Given the description of an element on the screen output the (x, y) to click on. 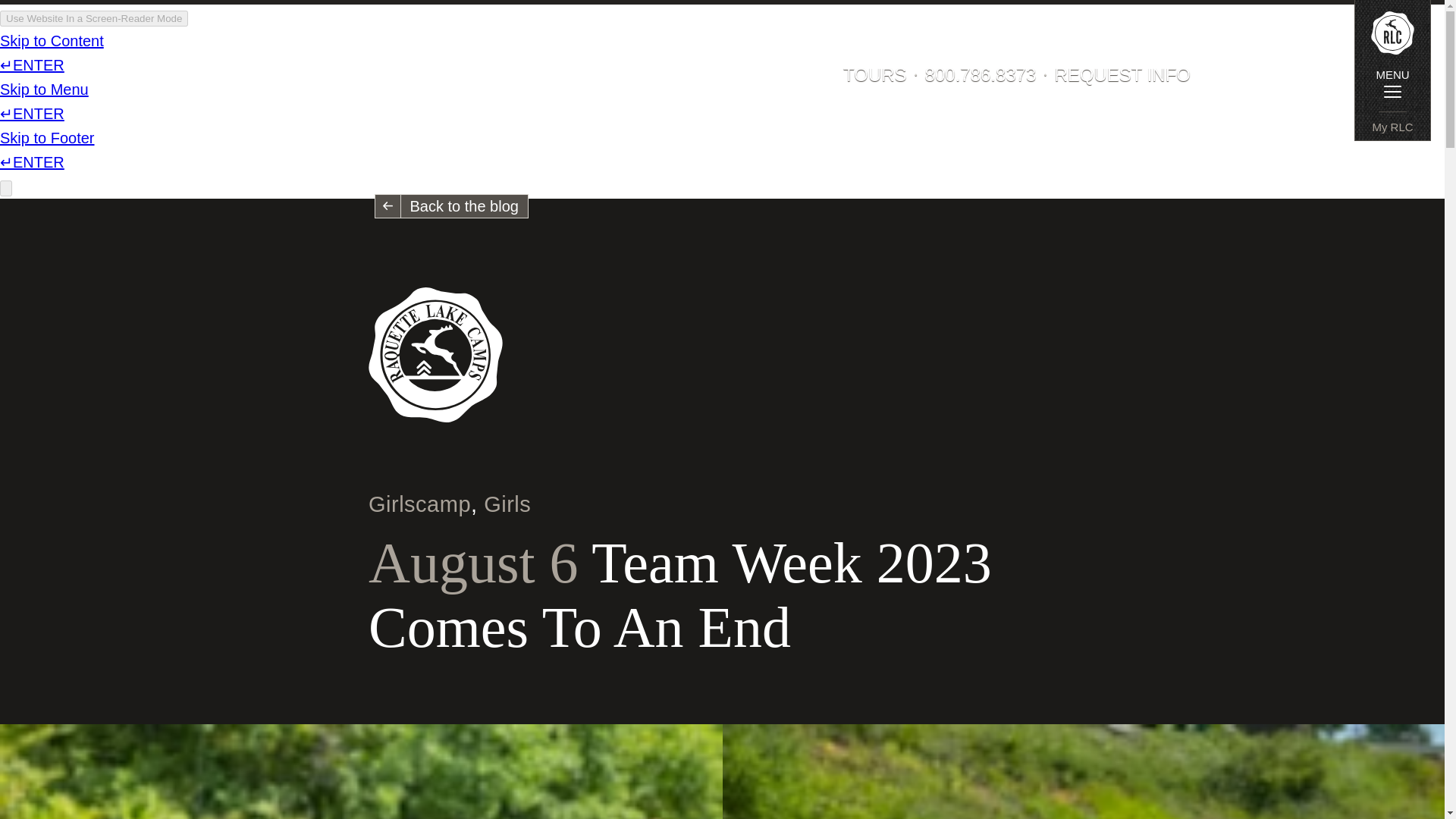
REQUEST INFO (1122, 74)
800.786.8373 (980, 74)
Back to the blog (451, 206)
Girlscamp (419, 504)
TOURS (875, 74)
My RLC (1391, 126)
Girls (507, 504)
MENU (1392, 82)
